Given the description of an element on the screen output the (x, y) to click on. 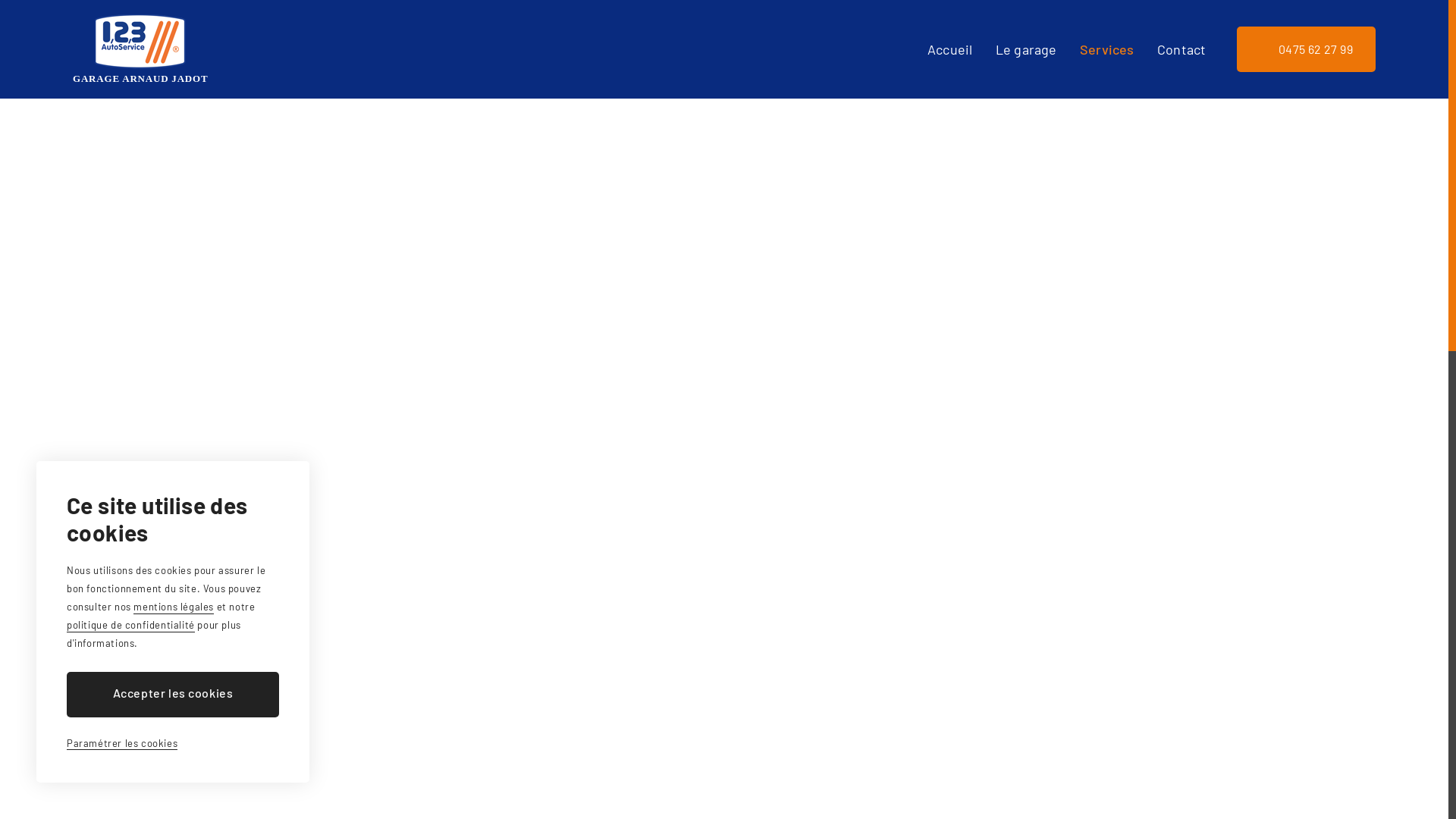
Le garage Element type: text (1026, 49)
Services Element type: text (1106, 49)
GARAGE ARNAUD JADOT Element type: text (139, 49)
Accueil Element type: text (949, 49)
0475 62 27 99 Element type: text (1305, 49)
Contact Element type: text (1181, 49)
